Given the description of an element on the screen output the (x, y) to click on. 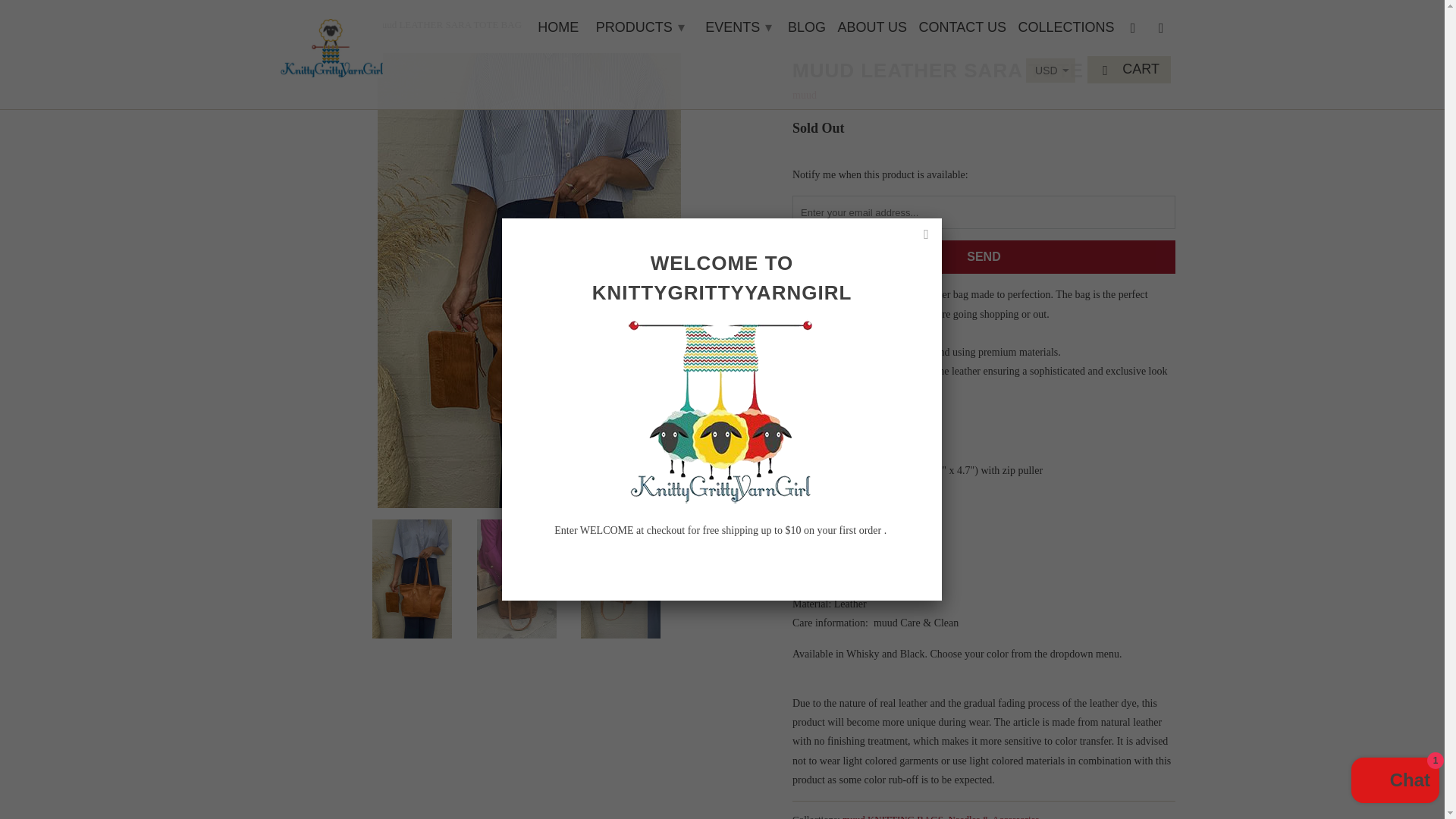
Knitty Gritty Yarn Girl (292, 24)
Products (338, 24)
Knitty Gritty Yarn Girl (331, 43)
muud KNITTING BAGS (893, 816)
muud (804, 94)
Send (983, 256)
HOME (557, 29)
